Given the description of an element on the screen output the (x, y) to click on. 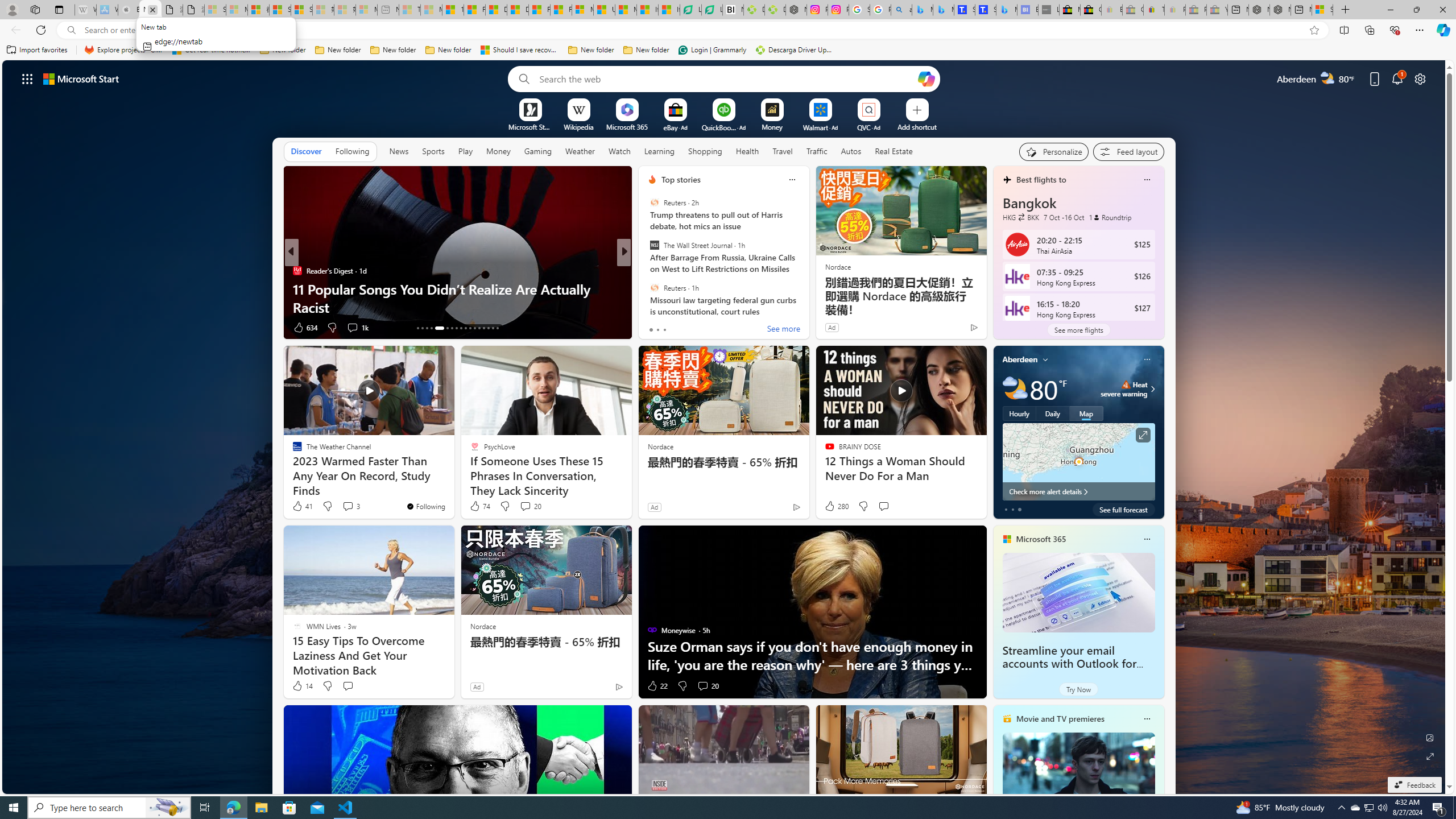
Movie and TV premieres (1060, 718)
LA Times (647, 270)
CNBC (647, 270)
Streamline your email accounts with Outlook for Windows (1077, 592)
Larger map  (1077, 461)
